Given the description of an element on the screen output the (x, y) to click on. 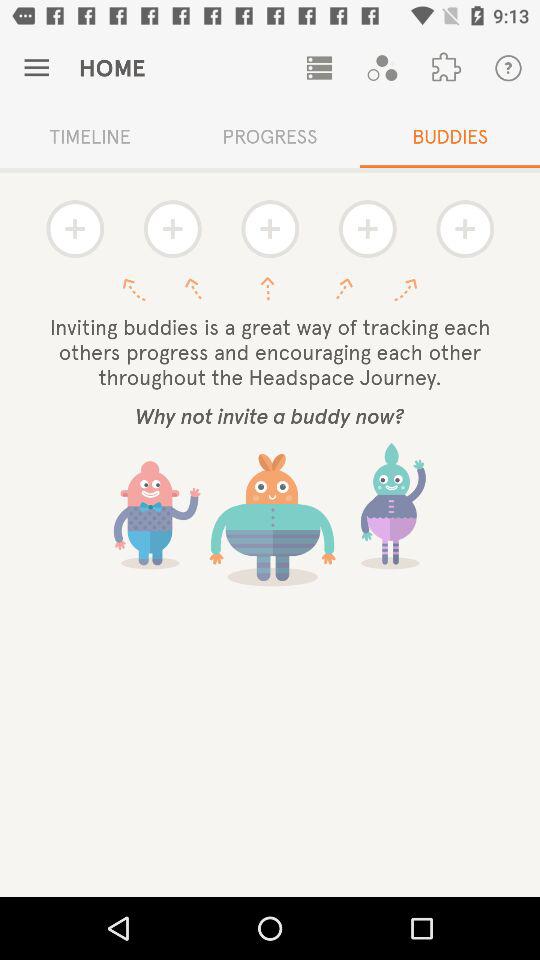
select item to the right of home icon (319, 67)
